Given the description of an element on the screen output the (x, y) to click on. 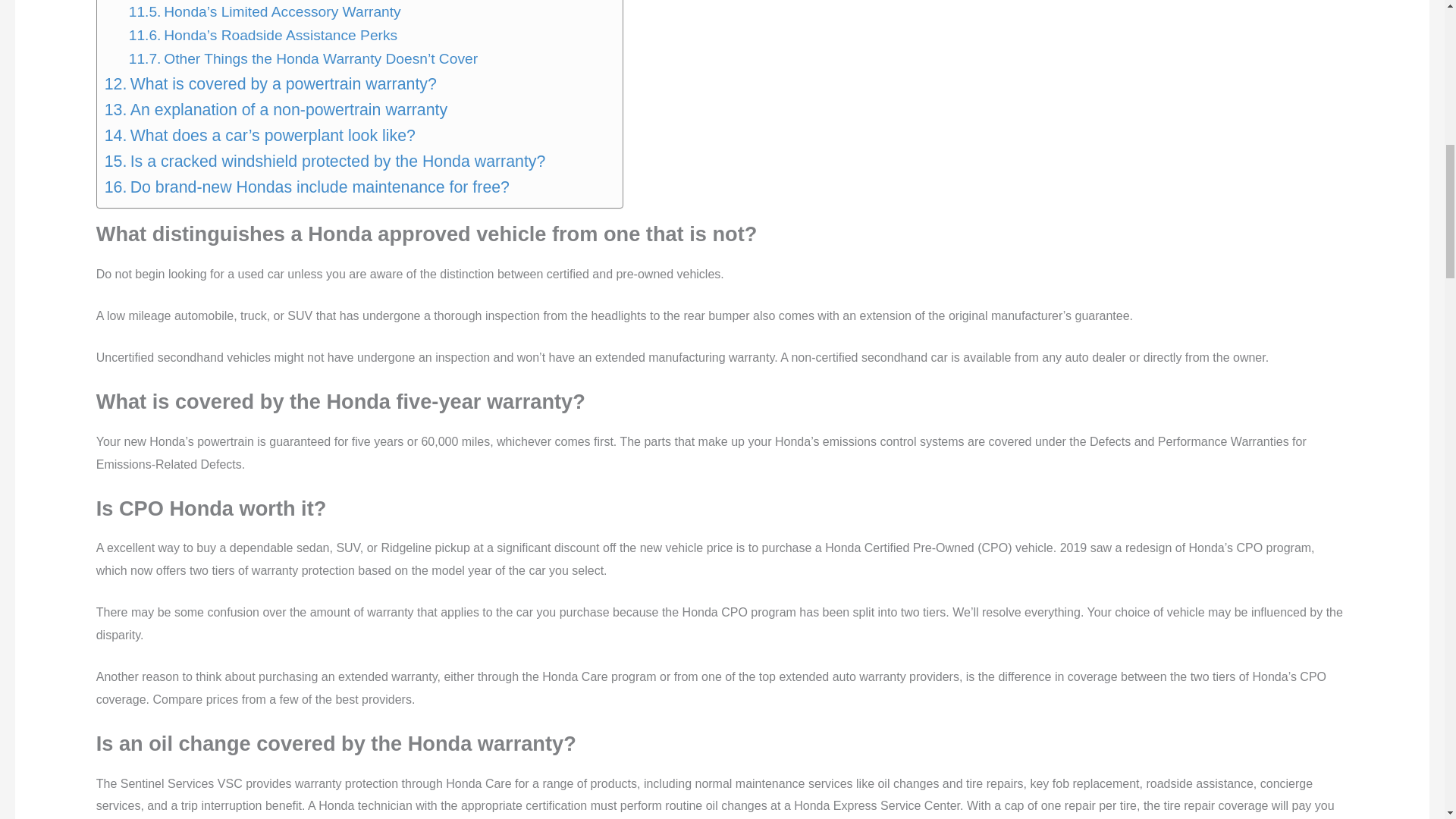
Do brand-new Hondas include maintenance for free? (306, 186)
Is a cracked windshield protected by the Honda warranty? (325, 161)
What is covered by a powertrain warranty? (270, 84)
An explanation of a non-powertrain warranty (275, 109)
